Given the description of an element on the screen output the (x, y) to click on. 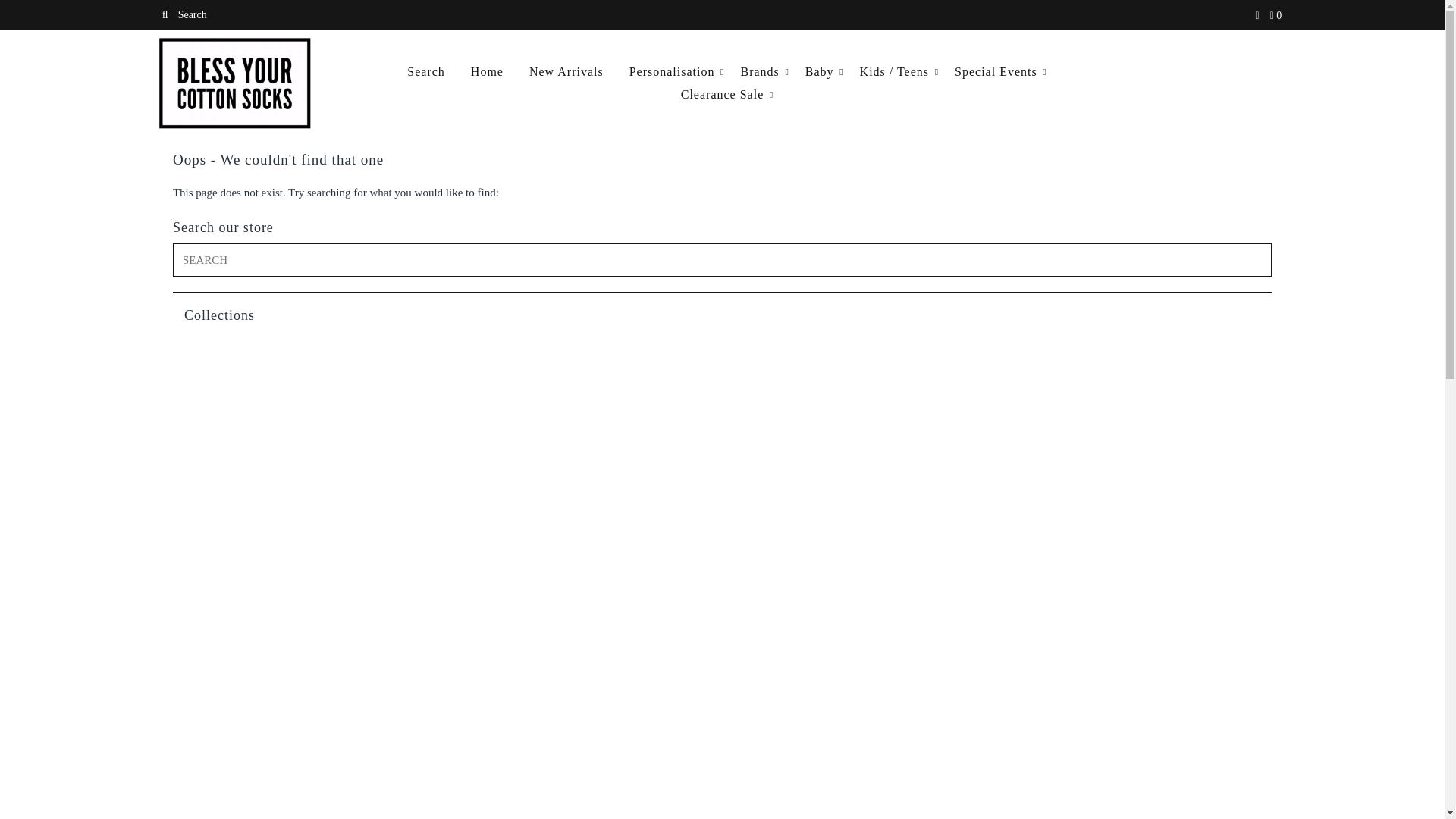
Baby Clearance (1141, 349)
Alcoholder (1141, 330)
Baby (582, 349)
Adult Clearance (862, 330)
Alimrose (303, 349)
Adored Illustrations (581, 330)
Baby Bedding (861, 349)
Baby Hats and Beanies (581, 368)
Baby Hair (302, 368)
